Given the description of an element on the screen output the (x, y) to click on. 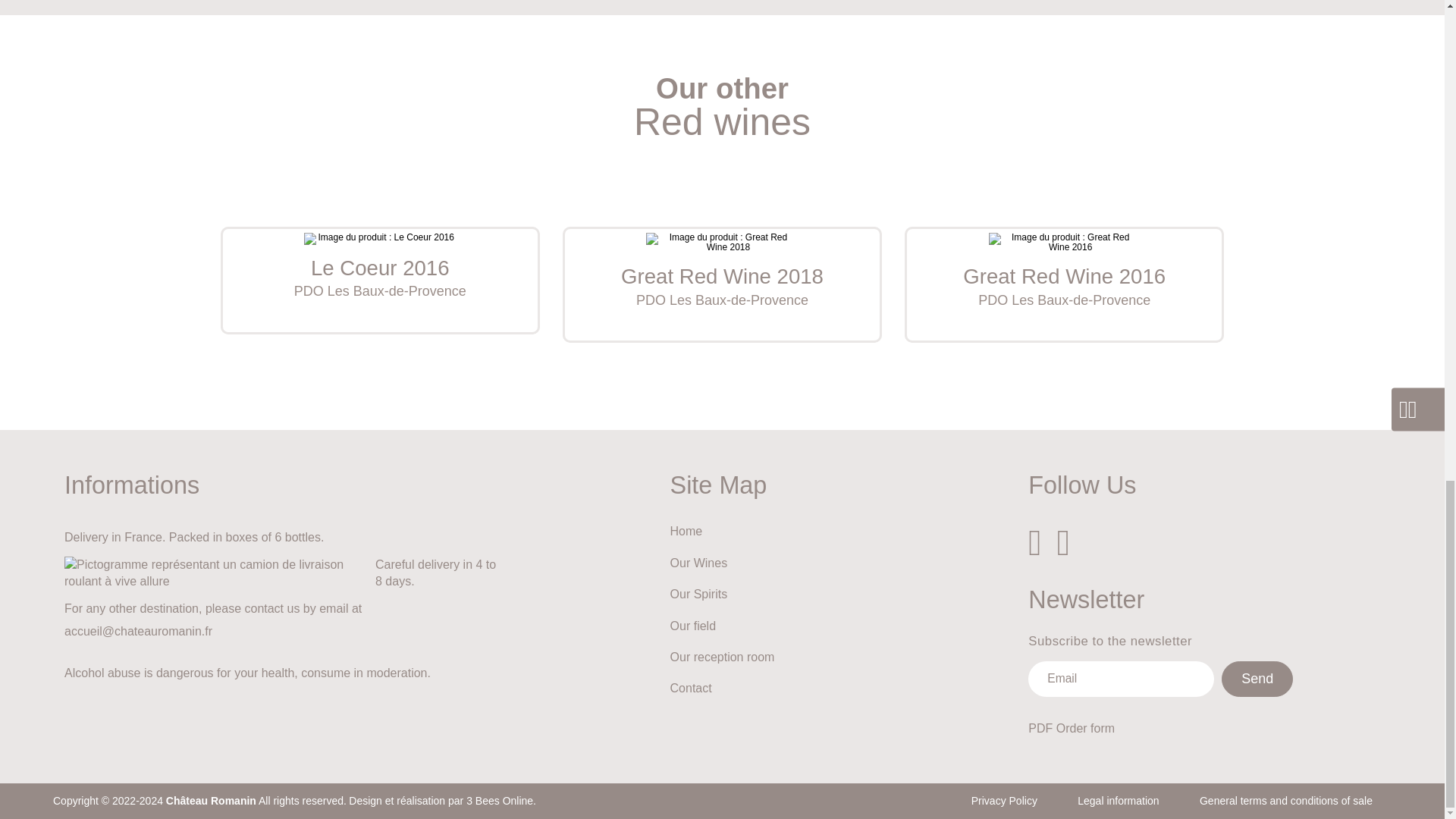
Contact (721, 690)
Our Wines (721, 565)
Home (721, 533)
Great Red Wine 2018 (1064, 284)
General terms and conditions of sale (722, 284)
Our reception room (1285, 800)
Our Spirits (721, 659)
Send (721, 596)
